Given the description of an element on the screen output the (x, y) to click on. 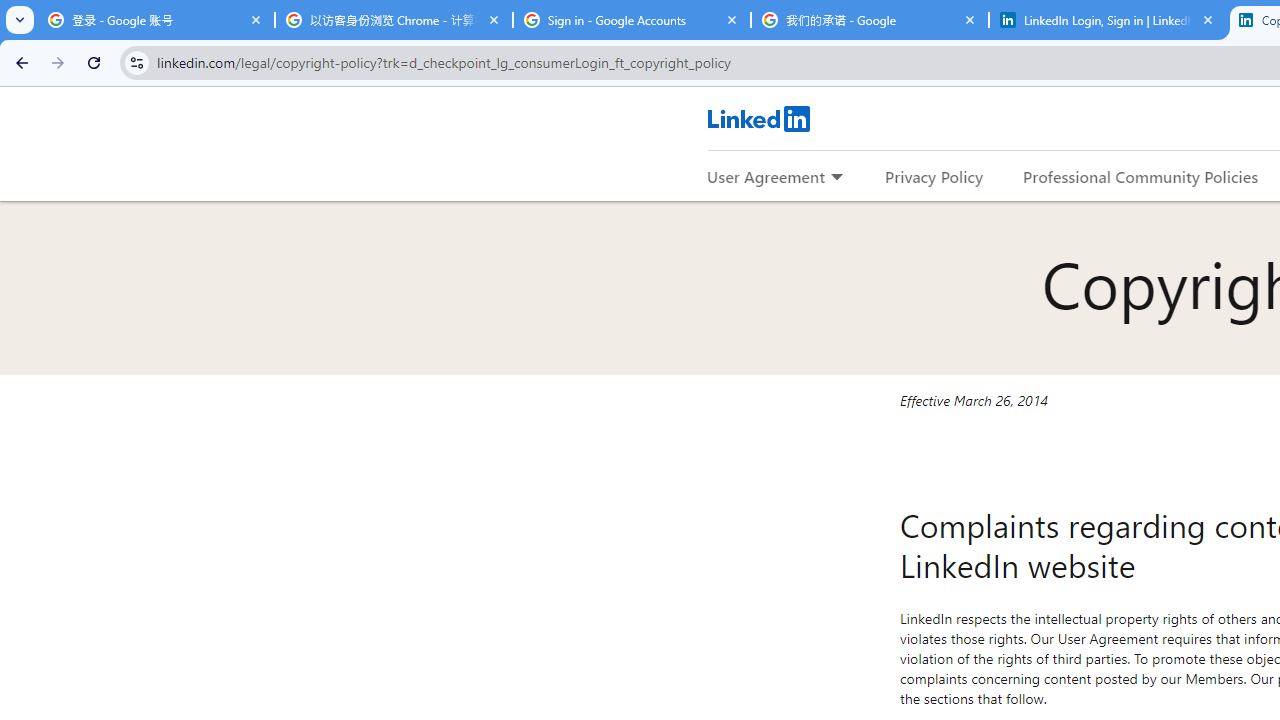
Professional Community Policies (1140, 176)
Expand to show more links for User Agreement (836, 178)
User Agreement (765, 176)
LinkedIn Logo (758, 118)
